Given the description of an element on the screen output the (x, y) to click on. 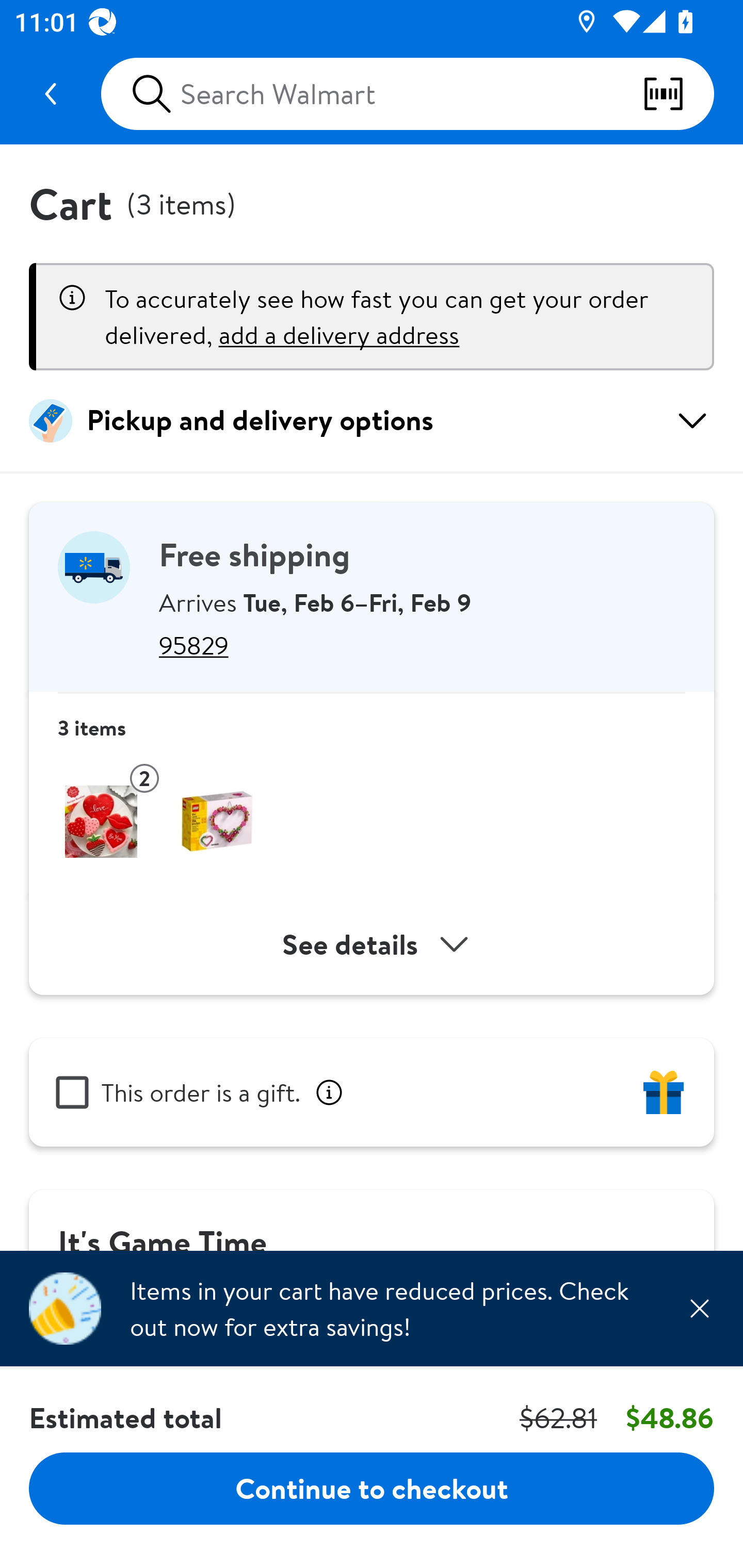
Navigate up (50, 93)
Search Walmart Opens barcode scanner (407, 94)
Opens barcode scanner (677, 94)
95829 (422, 645)
See details Collapsed See details (371, 944)
This order is a gift. Learn more about gifting (371, 1092)
Learn more about gifting (329, 1092)
Close (699, 1308)
Continue to checkout (371, 1487)
